Given the description of an element on the screen output the (x, y) to click on. 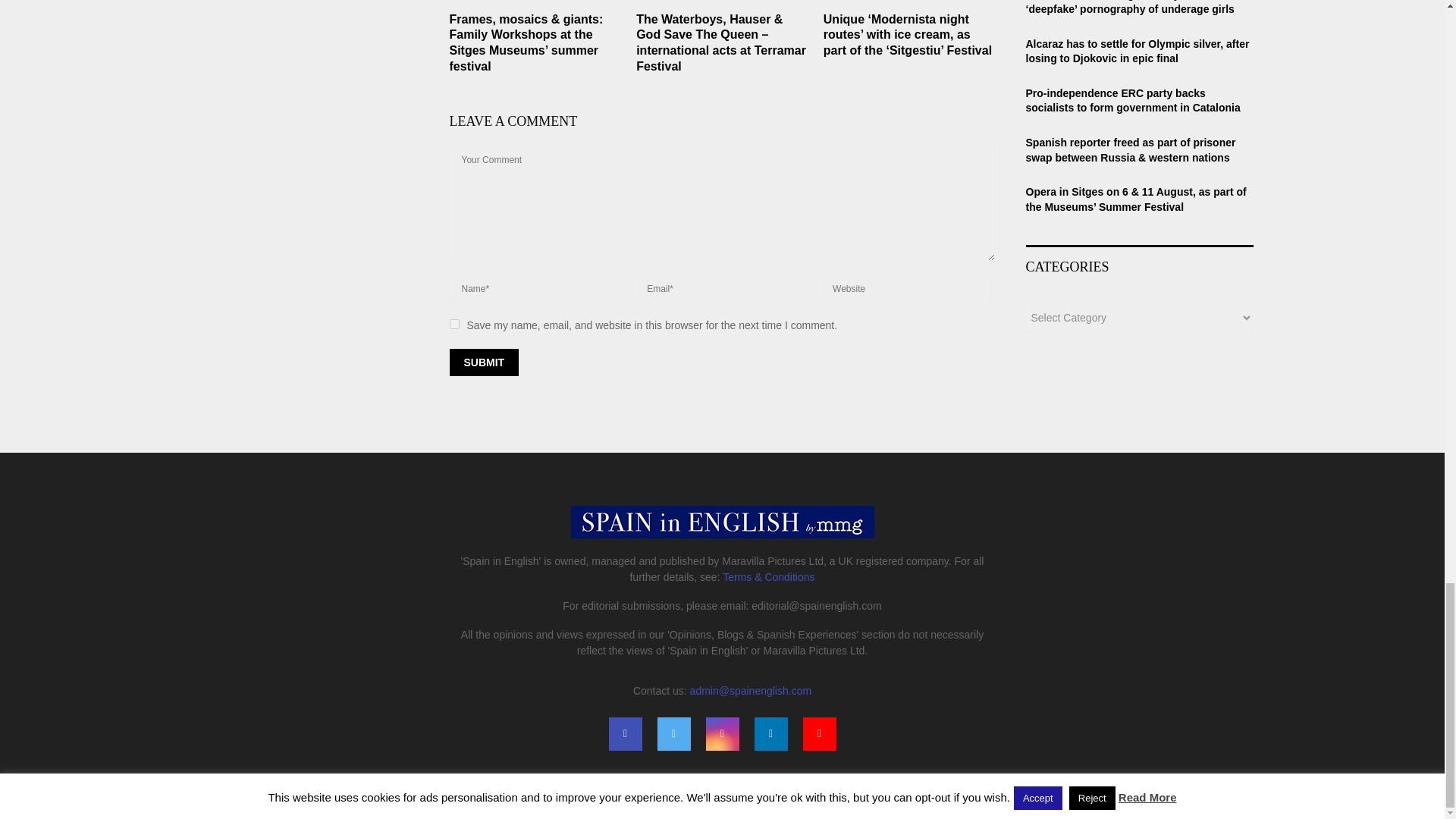
yes (453, 324)
Submit (483, 361)
